Given the description of an element on the screen output the (x, y) to click on. 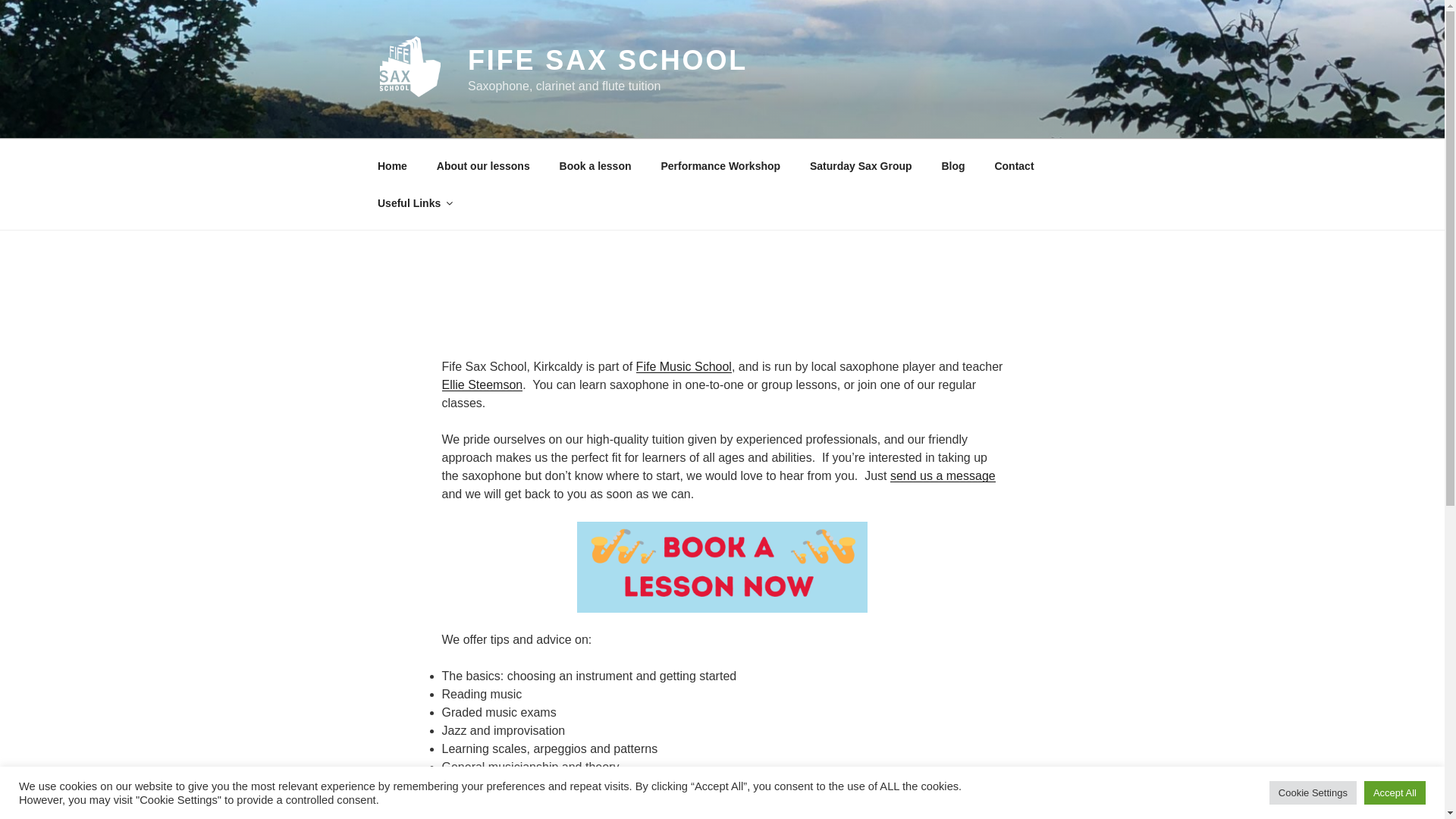
Fife Music School (684, 366)
Blog (953, 165)
Useful Links (414, 203)
Accept All (1394, 792)
Saturday Sax Group (860, 165)
Contact (1013, 165)
Book a lesson (595, 165)
About our lessons (483, 165)
Performance Workshop (720, 165)
FIFE SAX SCHOOL (607, 60)
send us a message (942, 475)
Home (392, 165)
Ellie Steemson (481, 384)
Cookie Settings (1312, 792)
